Given the description of an element on the screen output the (x, y) to click on. 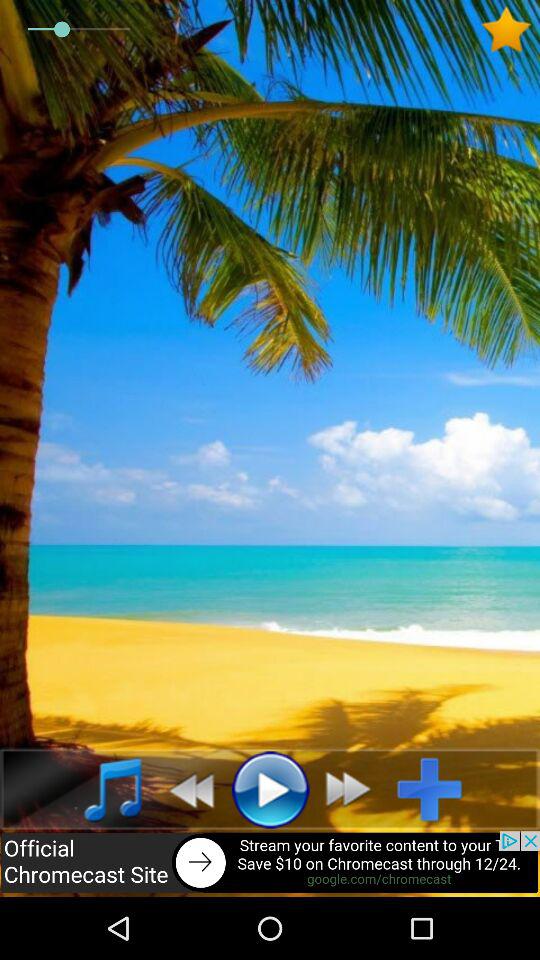
play bach option (186, 789)
